Given the description of an element on the screen output the (x, y) to click on. 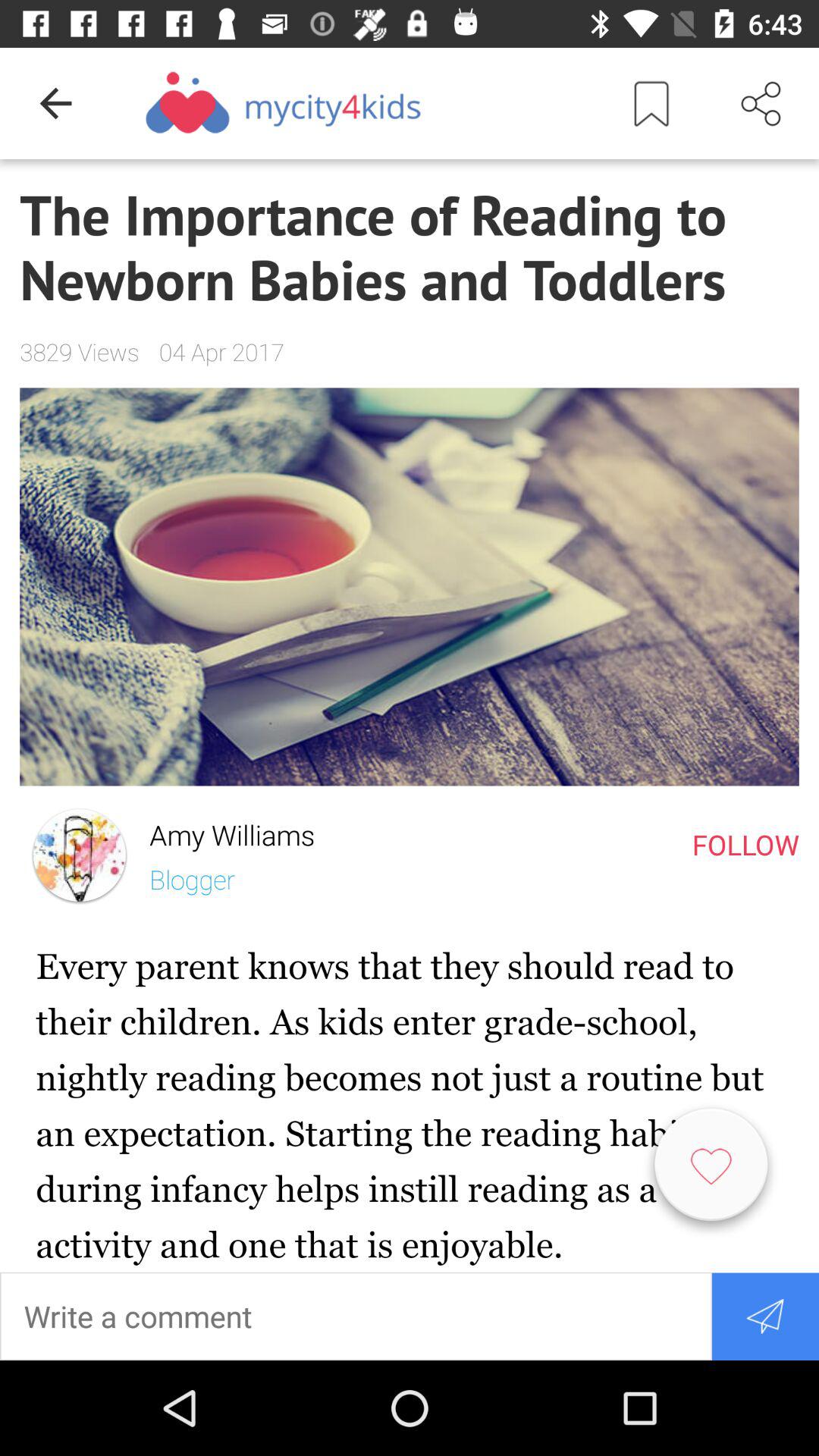
share comment on an article (764, 1316)
